Given the description of an element on the screen output the (x, y) to click on. 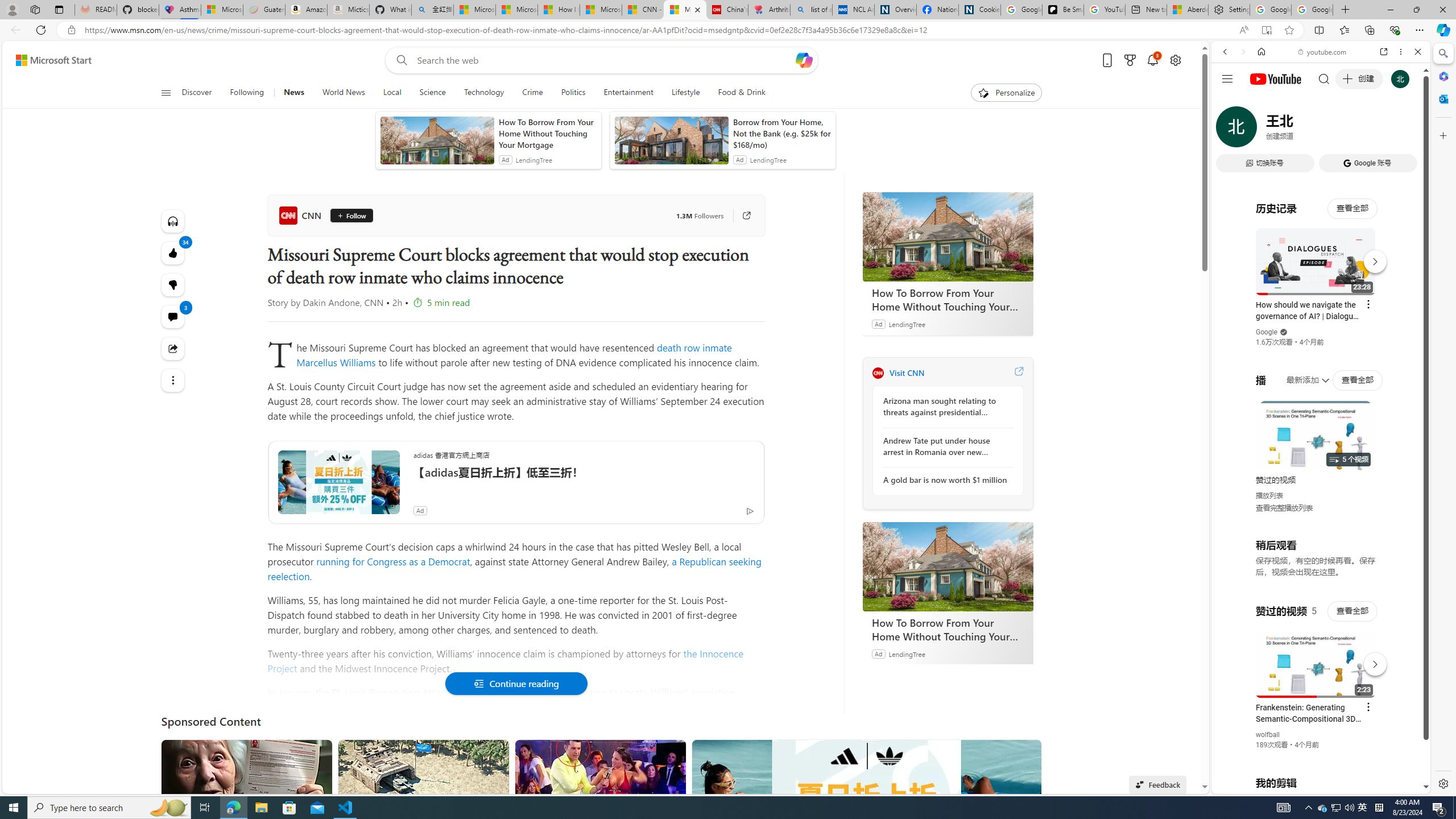
Discover (201, 92)
Trailer #2 [HD] (1320, 336)
Politics (572, 92)
Crime (531, 92)
Close Outlook pane (1442, 98)
Feedback (1157, 784)
Politics (573, 92)
Arthritis: Ask Health Professionals (769, 9)
Microsoft 365 (1442, 76)
Entertainment (628, 92)
YouTube (1315, 655)
VIDEOS (1300, 130)
Go to publisher's site (740, 215)
